Given the description of an element on the screen output the (x, y) to click on. 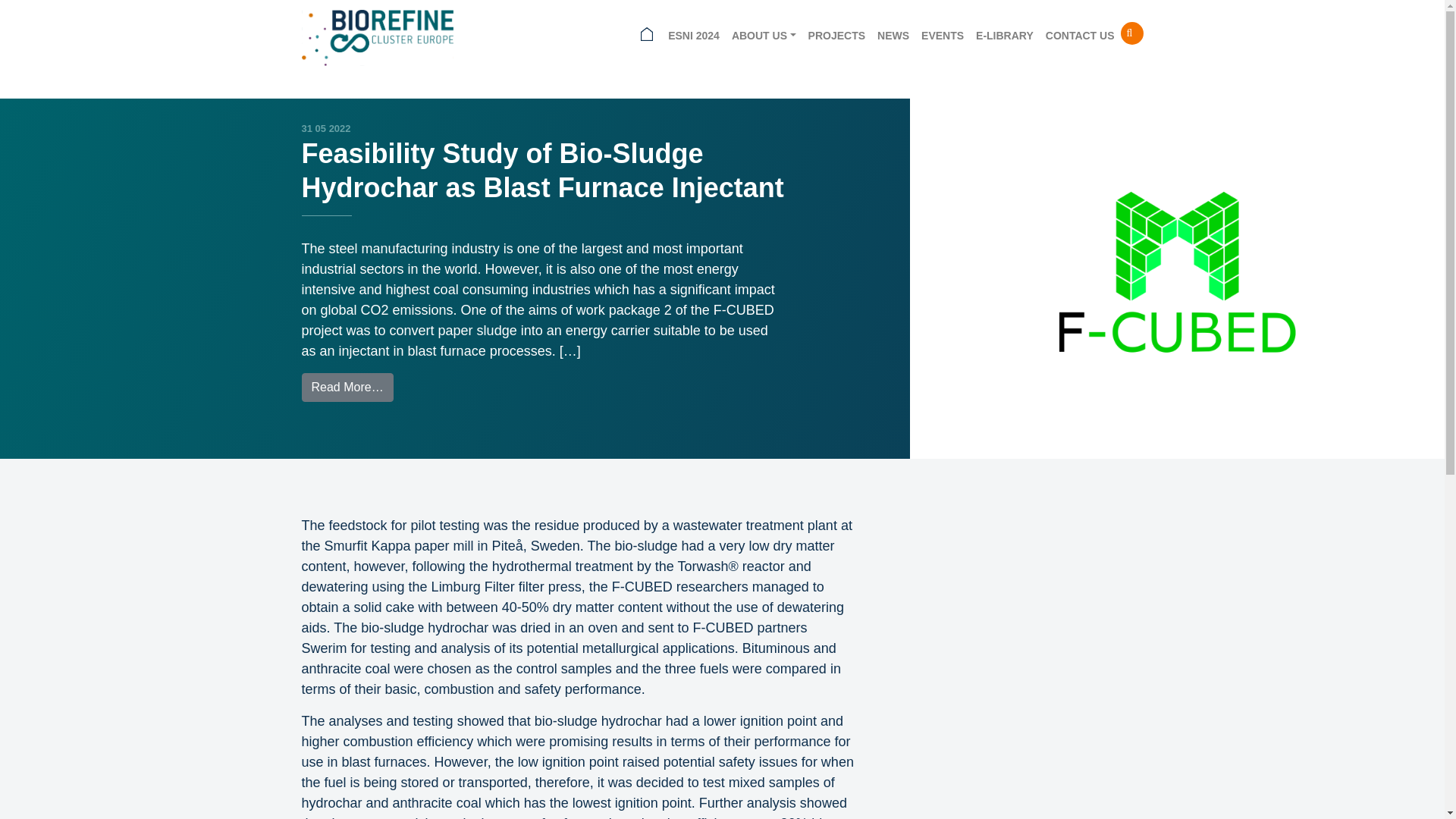
Home (646, 35)
HOME (646, 35)
Contact us (1080, 35)
E-library (1004, 35)
CONTACT US (1080, 35)
ESNI 2024 (693, 35)
Projects (836, 35)
News (892, 35)
E-LIBRARY (1004, 35)
NEWS (892, 35)
